Given the description of an element on the screen output the (x, y) to click on. 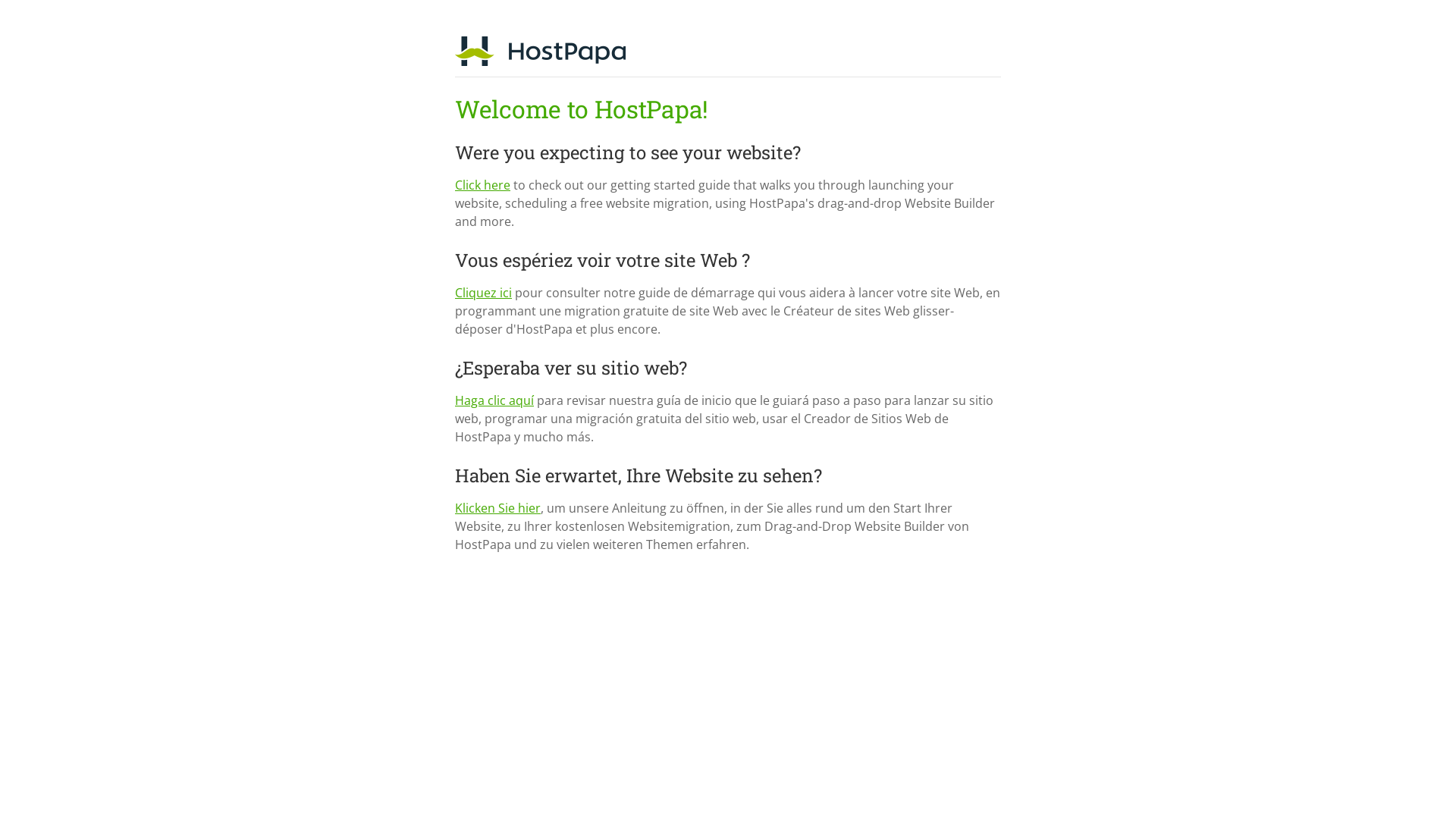
Klicken Sie hier Element type: text (497, 507)
Click here Element type: text (482, 184)
Cliquez ici Element type: text (483, 292)
